Given the description of an element on the screen output the (x, y) to click on. 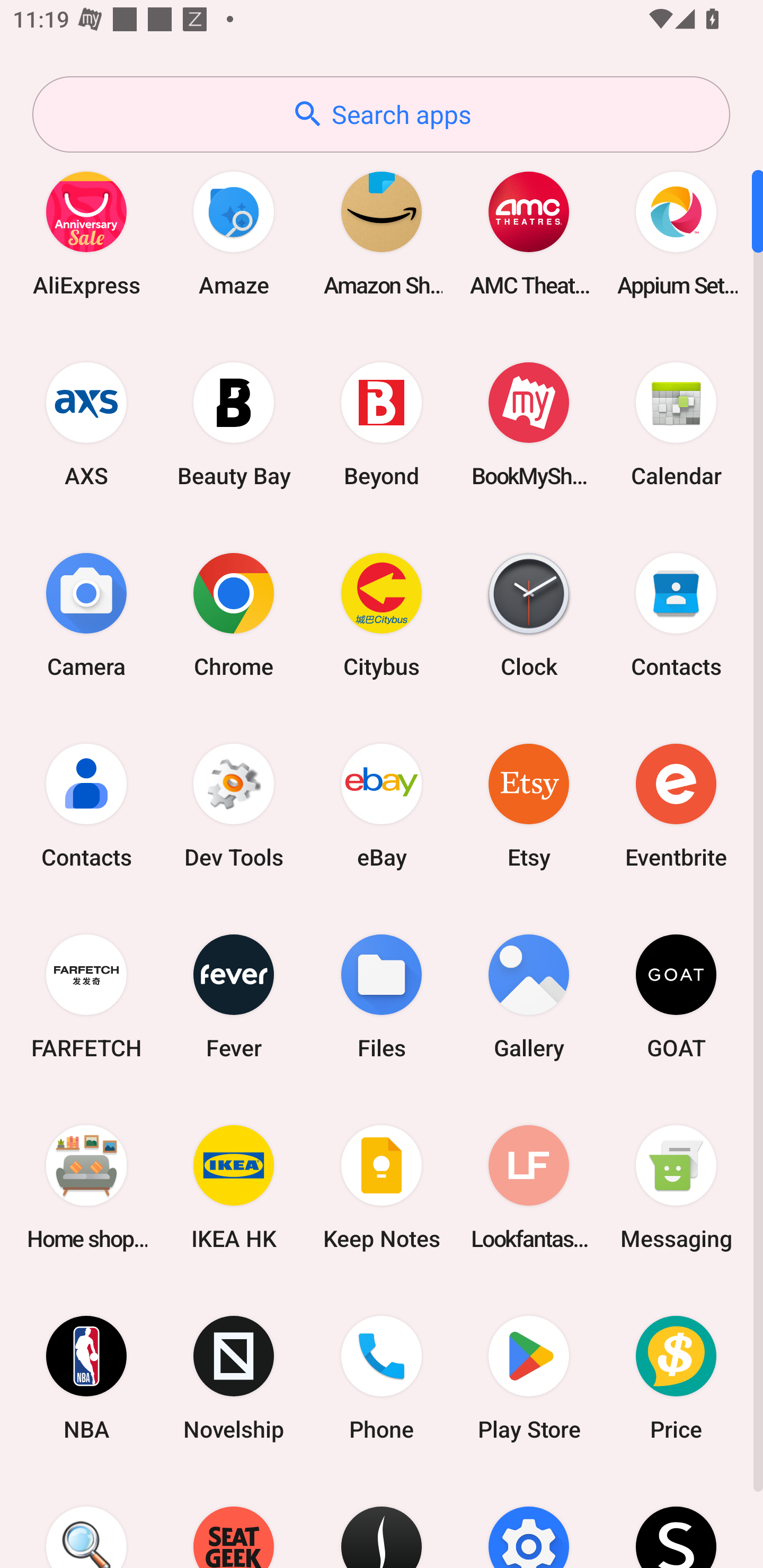
  Search apps (381, 114)
AliExpress (86, 233)
Amaze (233, 233)
Amazon Shopping (381, 233)
AMC Theatres (528, 233)
Appium Settings (676, 233)
AXS (86, 424)
Beauty Bay (233, 424)
Beyond (381, 424)
BookMyShow (528, 424)
Calendar (676, 424)
Camera (86, 614)
Chrome (233, 614)
Citybus (381, 614)
Clock (528, 614)
Contacts (676, 614)
Contacts (86, 805)
Dev Tools (233, 805)
eBay (381, 805)
Etsy (528, 805)
Eventbrite (676, 805)
FARFETCH (86, 996)
Fever (233, 996)
Files (381, 996)
Gallery (528, 996)
GOAT (676, 996)
Home shopping (86, 1186)
IKEA HK (233, 1186)
Keep Notes (381, 1186)
Lookfantastic (528, 1186)
Messaging (676, 1186)
NBA (86, 1377)
Novelship (233, 1377)
Phone (381, 1377)
Play Store (528, 1377)
Price (676, 1377)
